Given the description of an element on the screen output the (x, y) to click on. 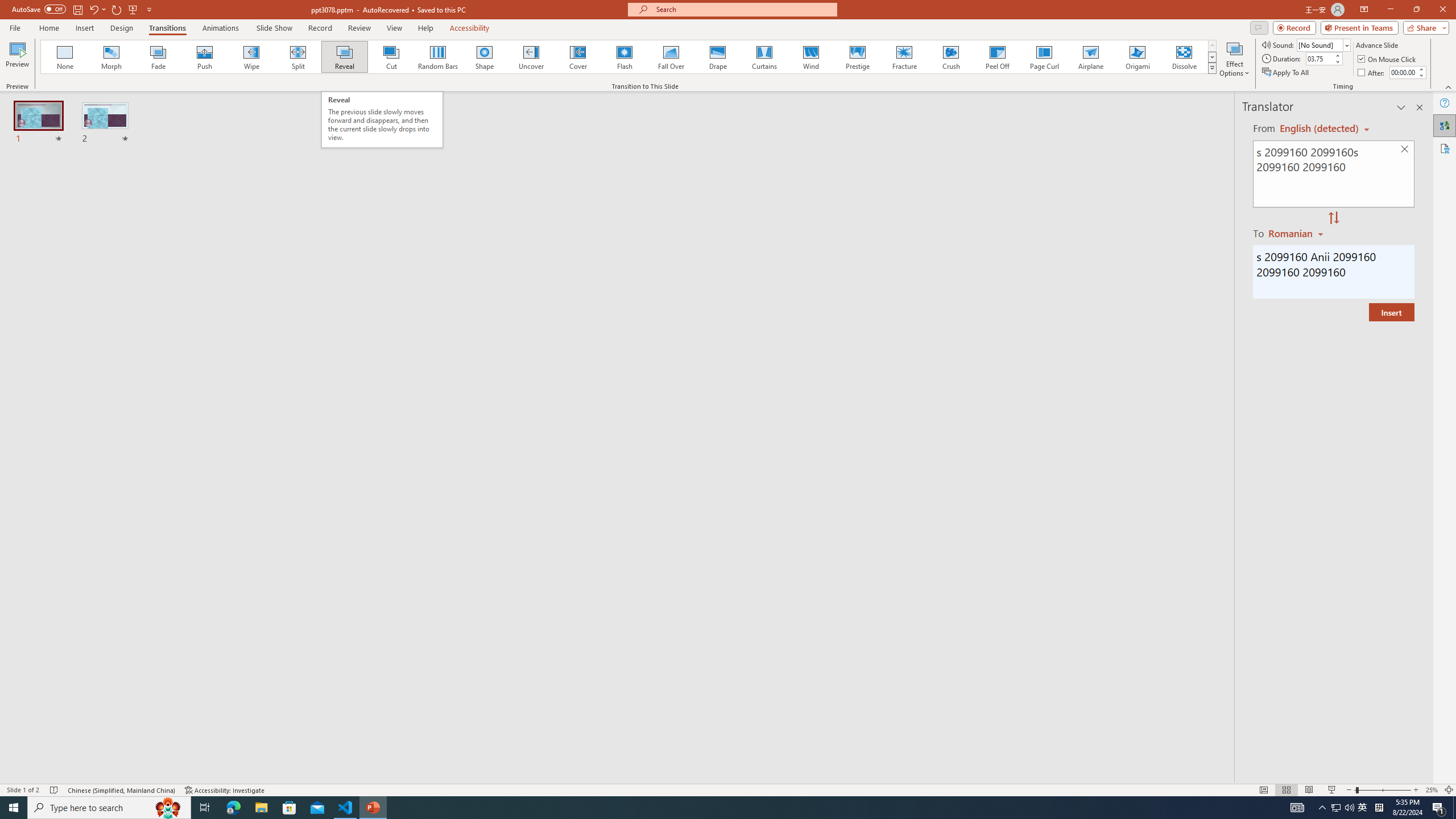
None (65, 56)
Fracture (903, 56)
Clear text (1404, 149)
AutomationID: AnimationTransitionGallery (628, 56)
Curtains (764, 56)
Fall Over (670, 56)
Wipe (251, 56)
Peel Off (997, 56)
Apply To All (1286, 72)
